Given the description of an element on the screen output the (x, y) to click on. 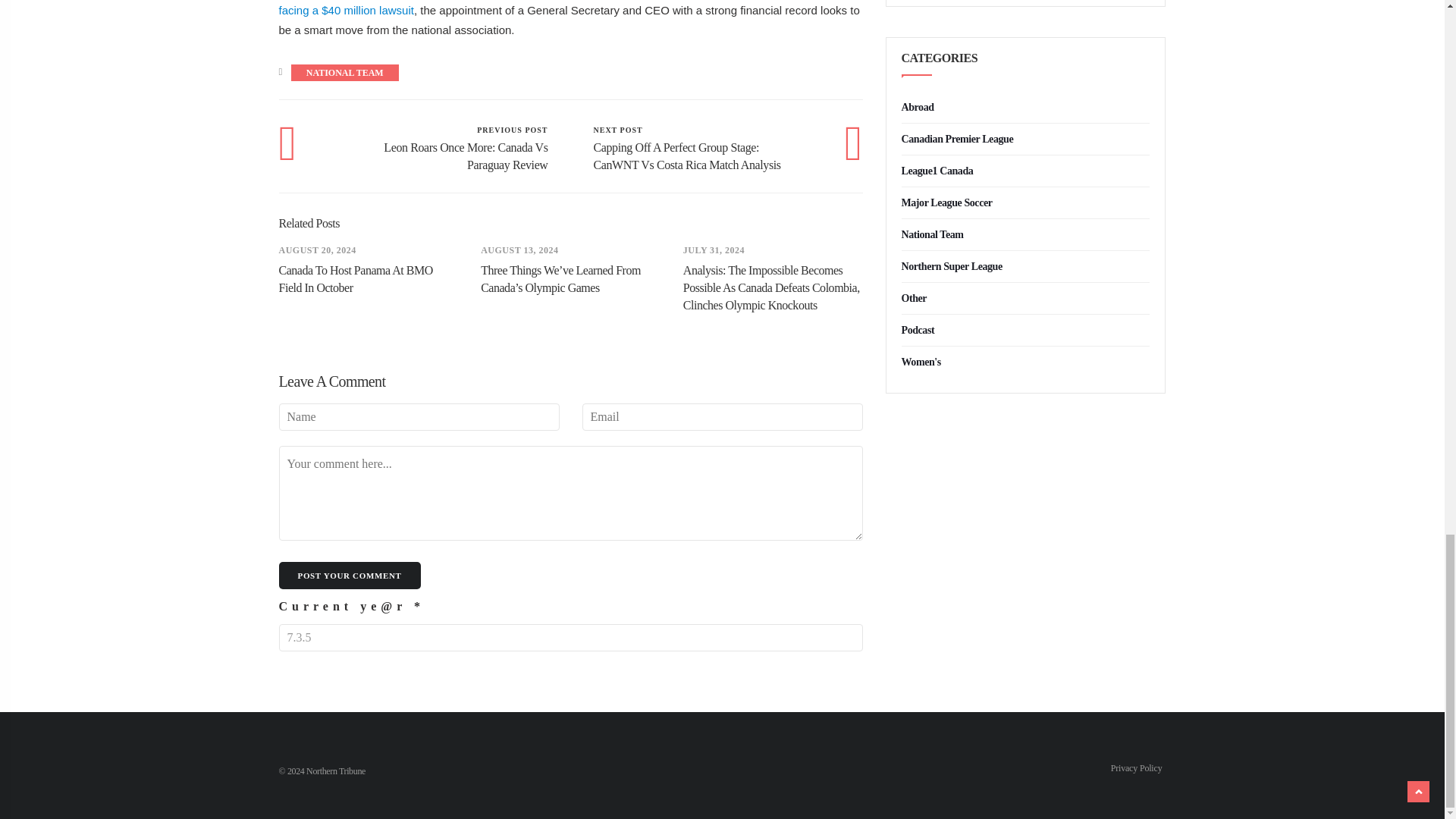
7.3.5 (571, 637)
NATIONAL TEAM (344, 72)
Canada To Host Panama At BMO Field In October (355, 278)
POST YOUR COMMENT (349, 574)
